Given the description of an element on the screen output the (x, y) to click on. 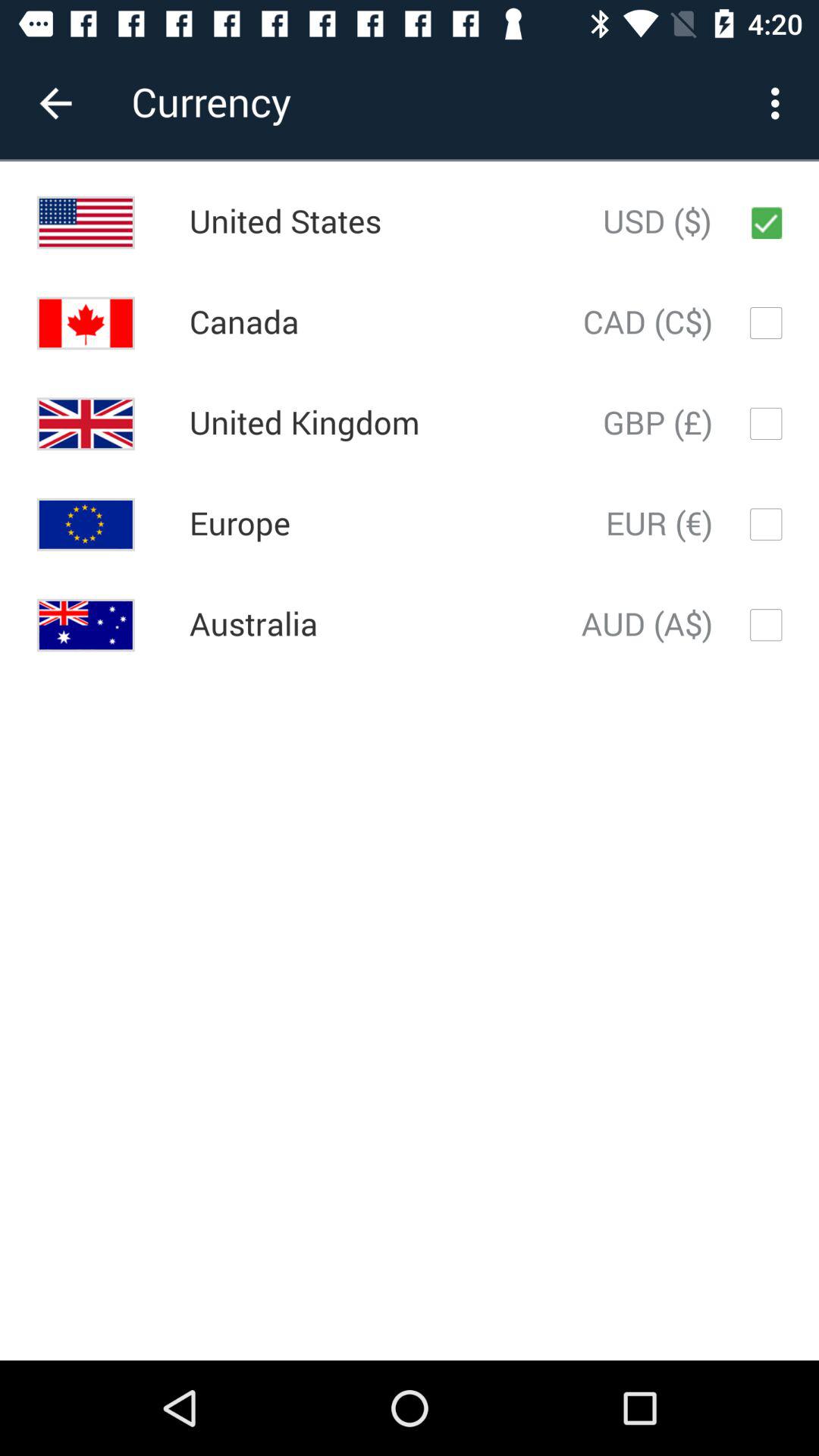
open the item to the left of currency item (55, 103)
